Given the description of an element on the screen output the (x, y) to click on. 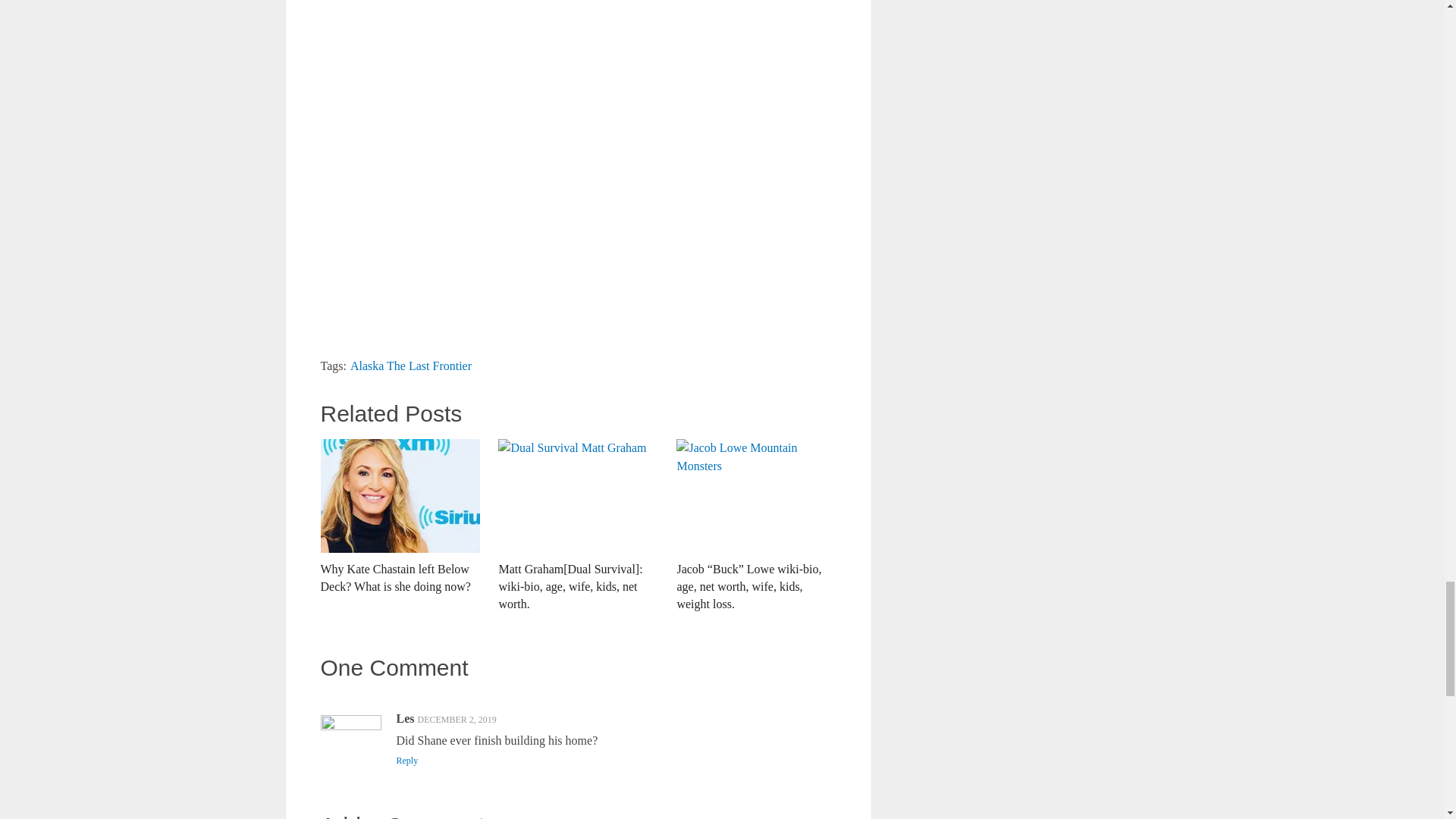
Reply (406, 760)
Why Kate Chastain left Below Deck? What is she doing now? (399, 516)
Alaska The Last Frontier (410, 365)
Why Kate Chastain left Below Deck? What is she doing now? (399, 516)
